Given the description of an element on the screen output the (x, y) to click on. 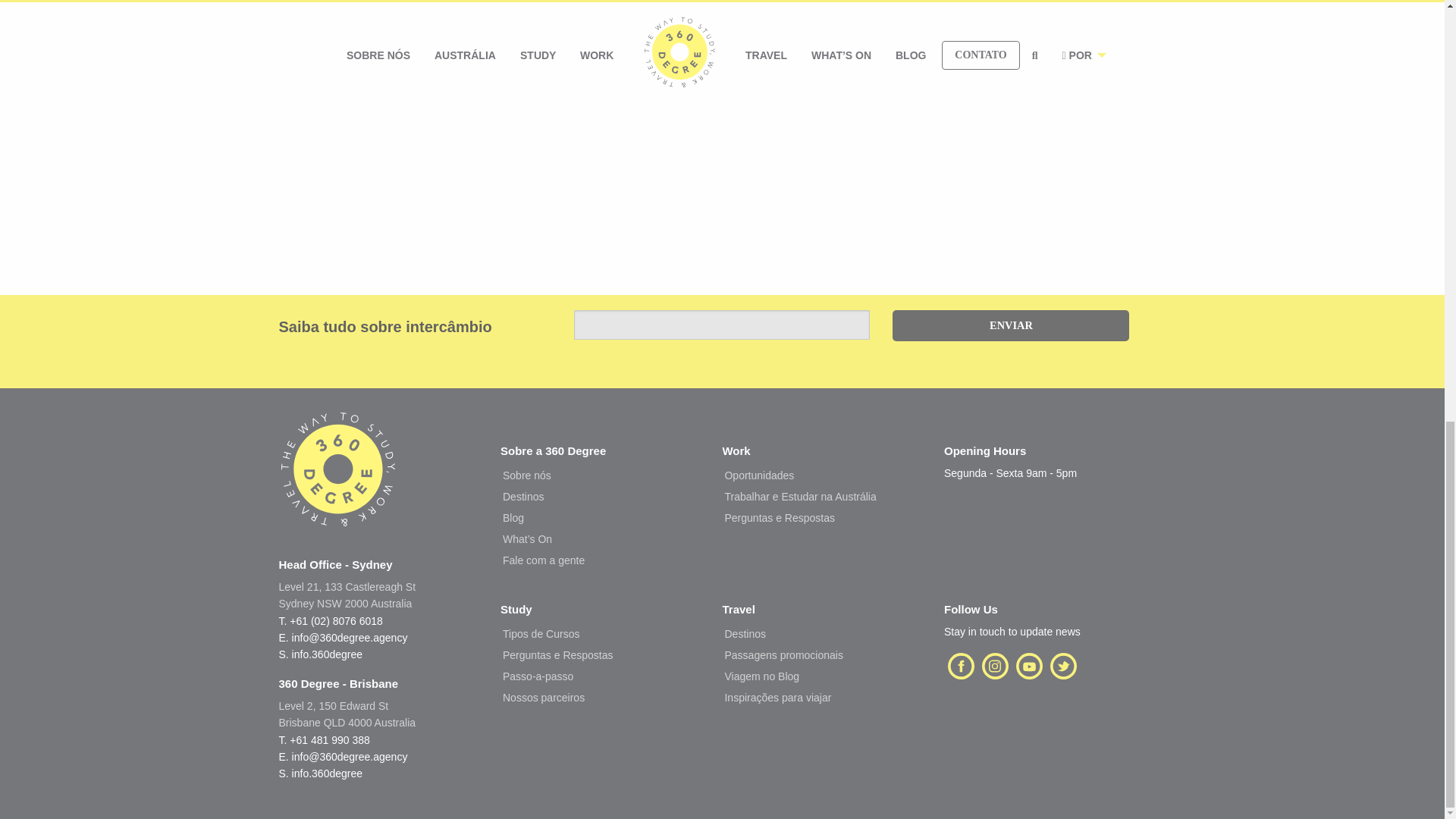
Enviar (1010, 325)
Acompanhe a 360 Degree no YouTube (1029, 664)
Acompanhe a 360 Degree no Facebook (960, 664)
Acompanhe a 360 Degree no Instagram (994, 664)
Enviar (1010, 325)
Acesse nosso site (338, 483)
